Given the description of an element on the screen output the (x, y) to click on. 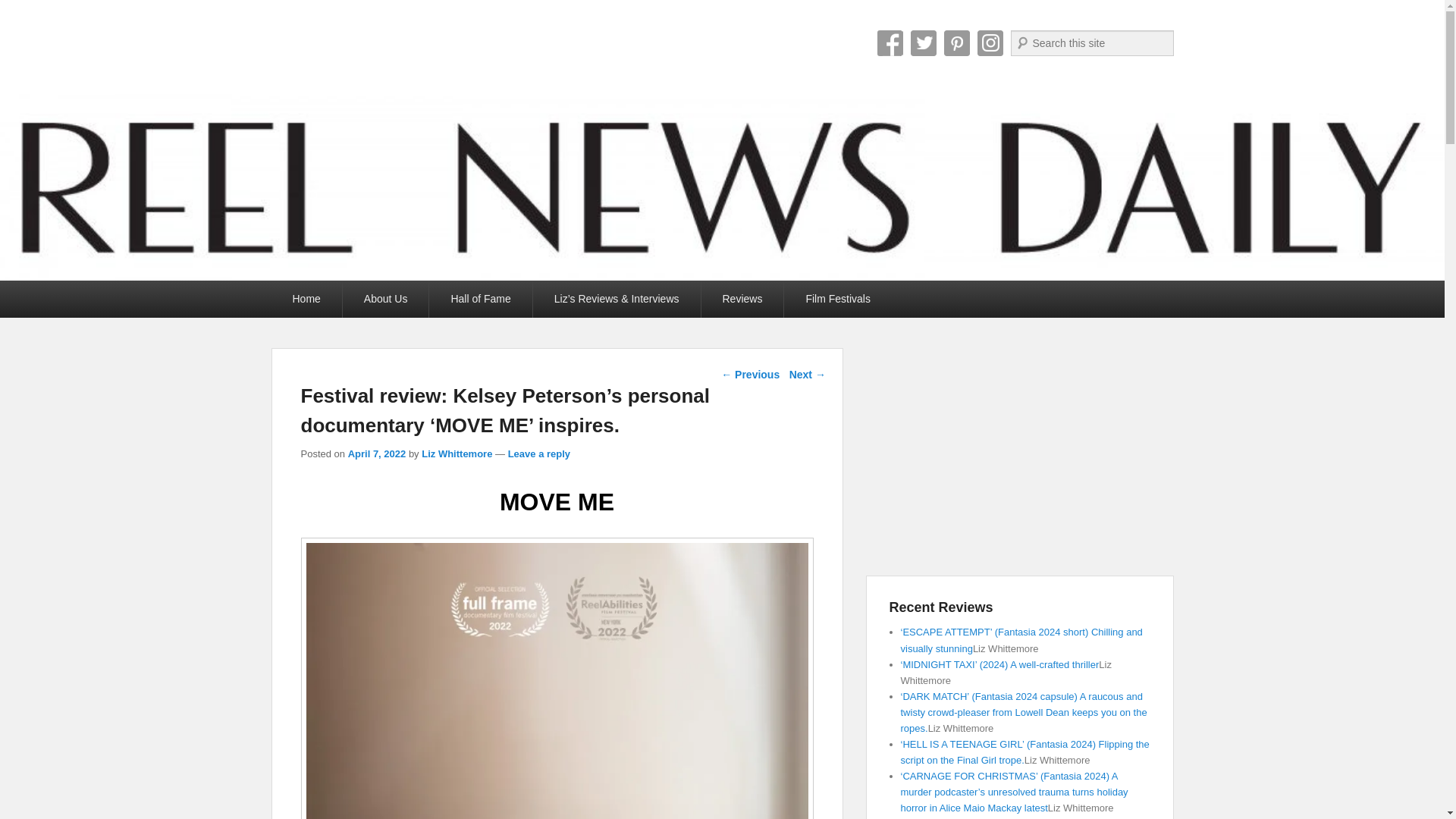
12:00 pm (376, 453)
Twitter (923, 43)
April 7, 2022 (376, 453)
Reel News Daily (404, 48)
Hall of Fame (480, 298)
Instagram (989, 43)
Reviews (741, 298)
Pinterest (956, 43)
Liz Whittemore (457, 453)
Instagram (989, 43)
Facebook (889, 43)
Leave a reply (539, 453)
Twitter (923, 43)
Home (306, 298)
Facebook (889, 43)
